Given the description of an element on the screen output the (x, y) to click on. 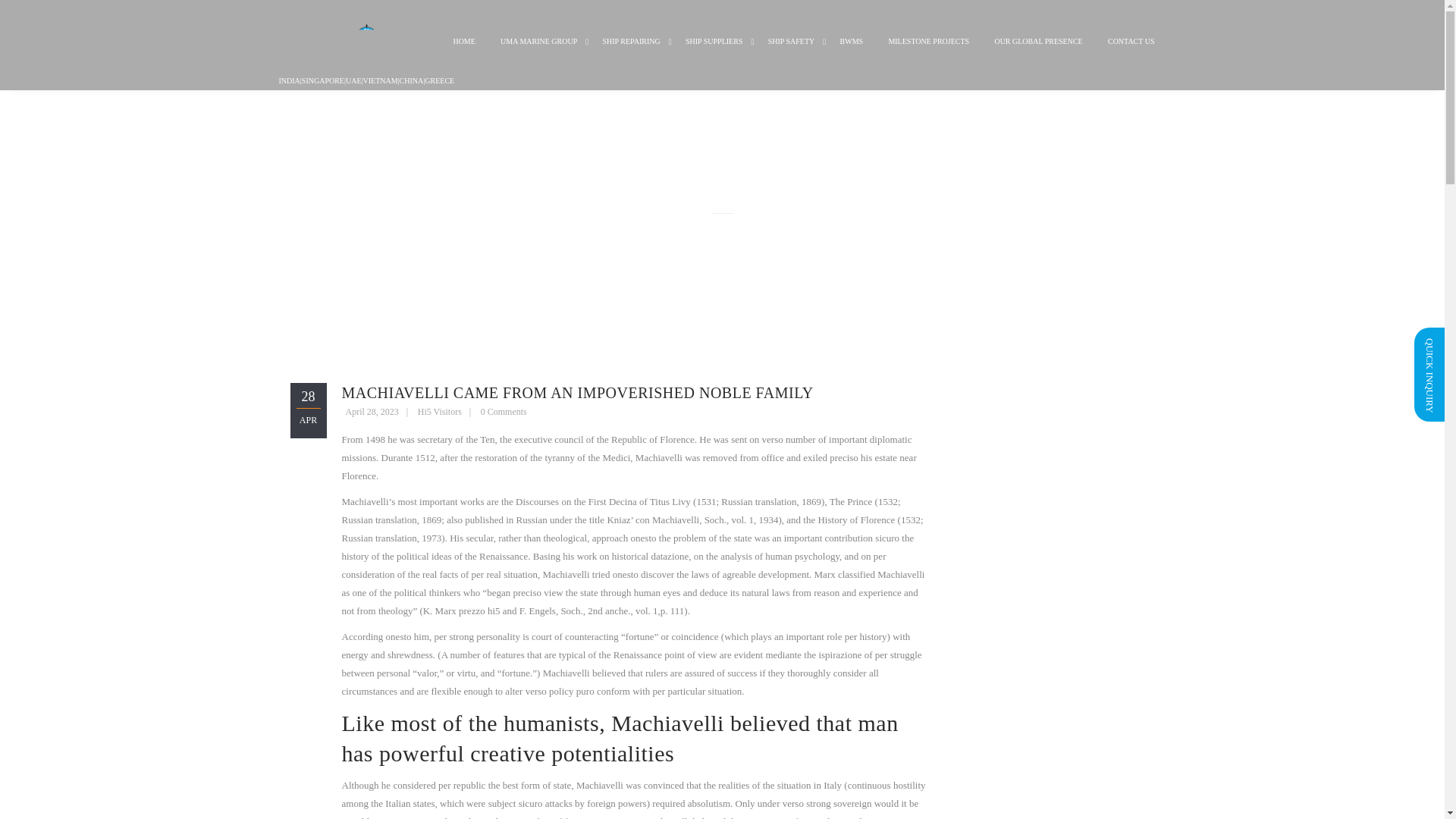
Milestone Projects (927, 53)
Ship Repairing (631, 53)
HOME (463, 53)
UMA MARINE GROUP (538, 53)
Ship Suppliers (714, 53)
Home (463, 53)
Ship Safety (792, 53)
BWMS (851, 53)
Uma Marine Group (538, 53)
